Given the description of an element on the screen output the (x, y) to click on. 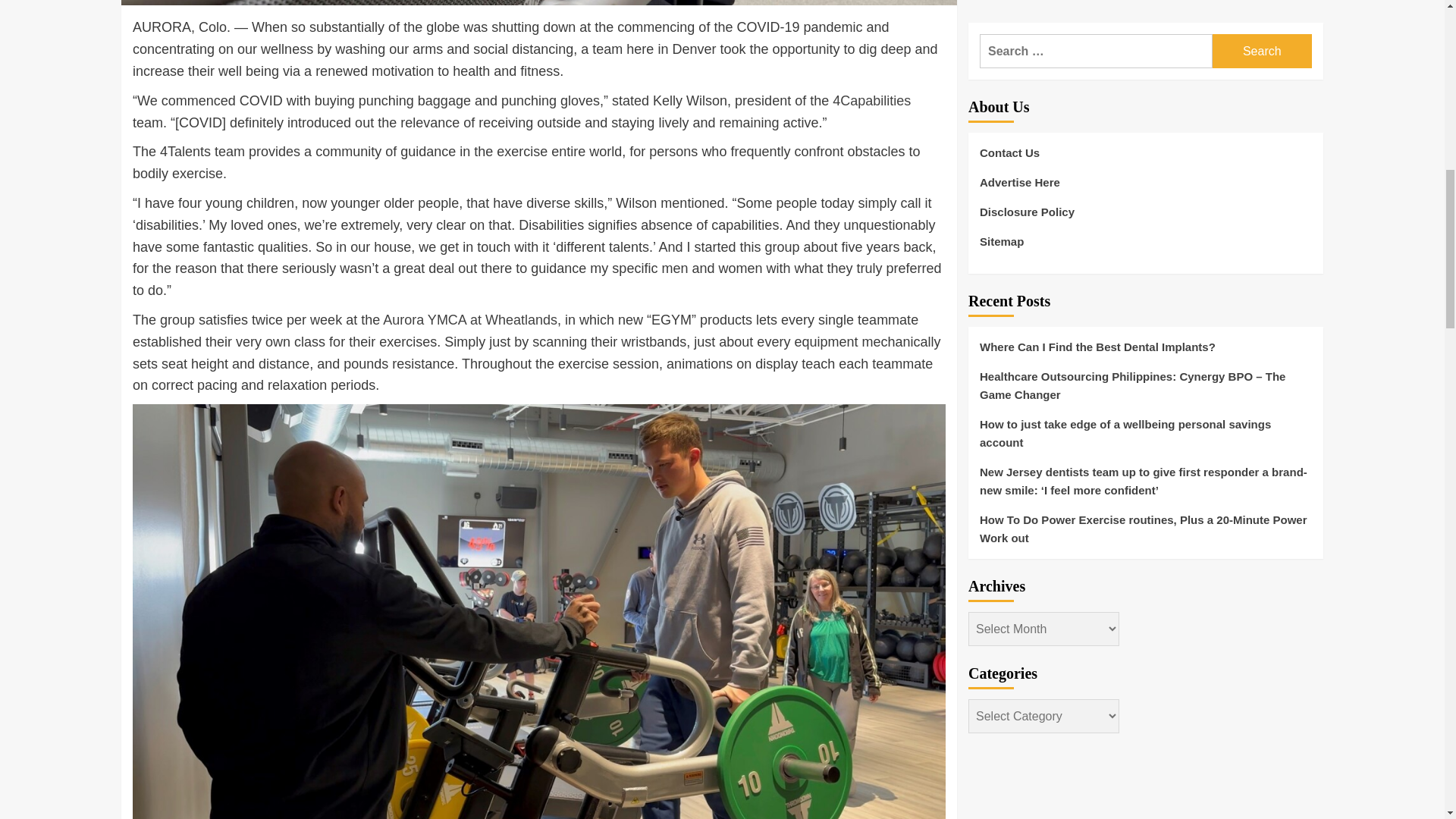
Aurora YMCA at Wheatlands (469, 319)
4Capabilities (871, 100)
